Given the description of an element on the screen output the (x, y) to click on. 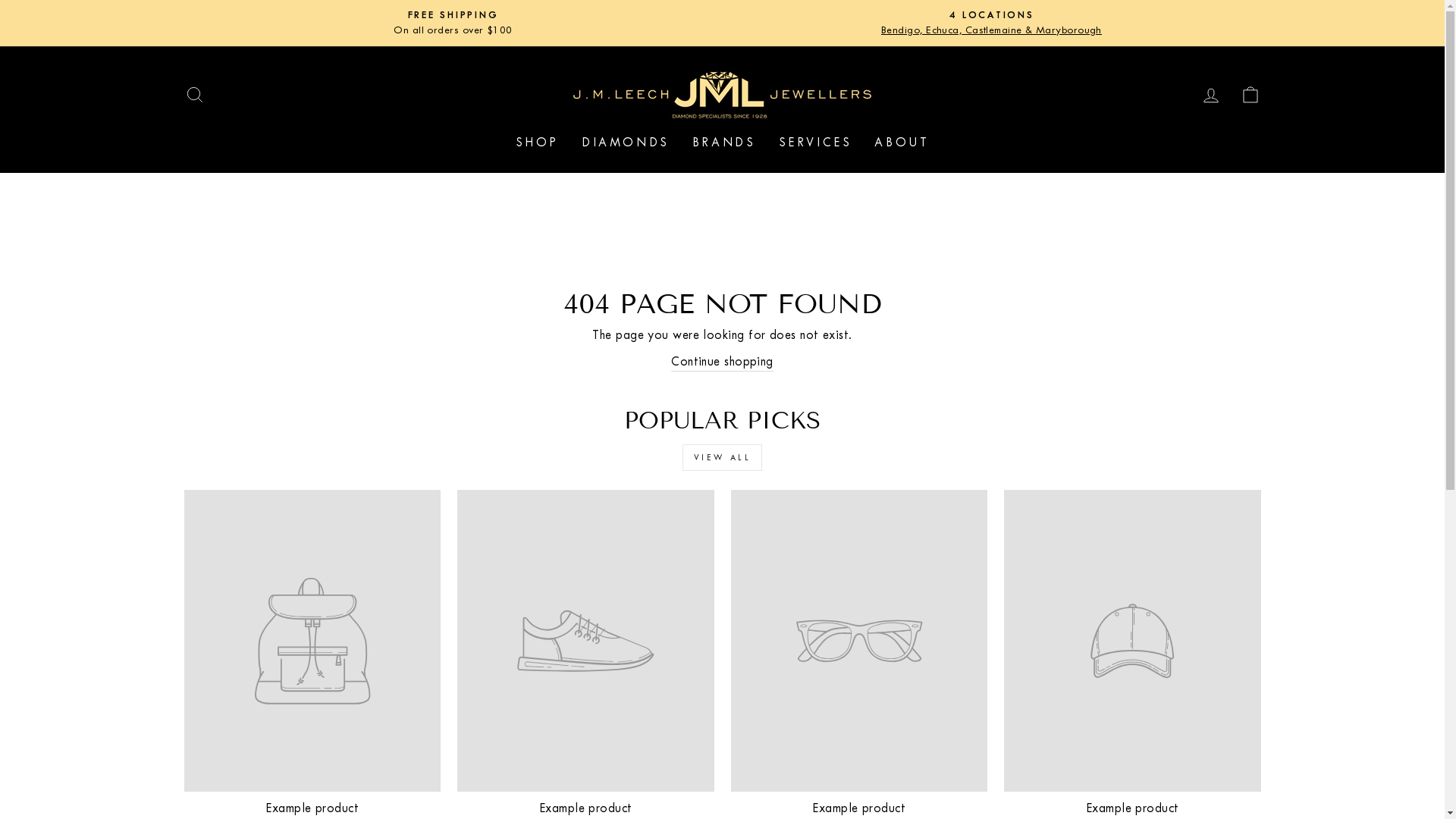
BRANDS Element type: text (723, 142)
LOG IN Element type: text (1210, 94)
VIEW ALL Element type: text (722, 457)
CART Element type: text (1249, 94)
4 LOCATIONS
Bendigo, Echuca, Castlemaine & Maryborough Element type: text (991, 22)
SEARCH Element type: text (193, 94)
SERVICES Element type: text (815, 142)
Continue shopping Element type: text (722, 361)
DIAMONDS Element type: text (625, 142)
Skip to content Element type: text (0, 0)
ABOUT Element type: text (901, 142)
SHOP Element type: text (537, 142)
